Given the description of an element on the screen output the (x, y) to click on. 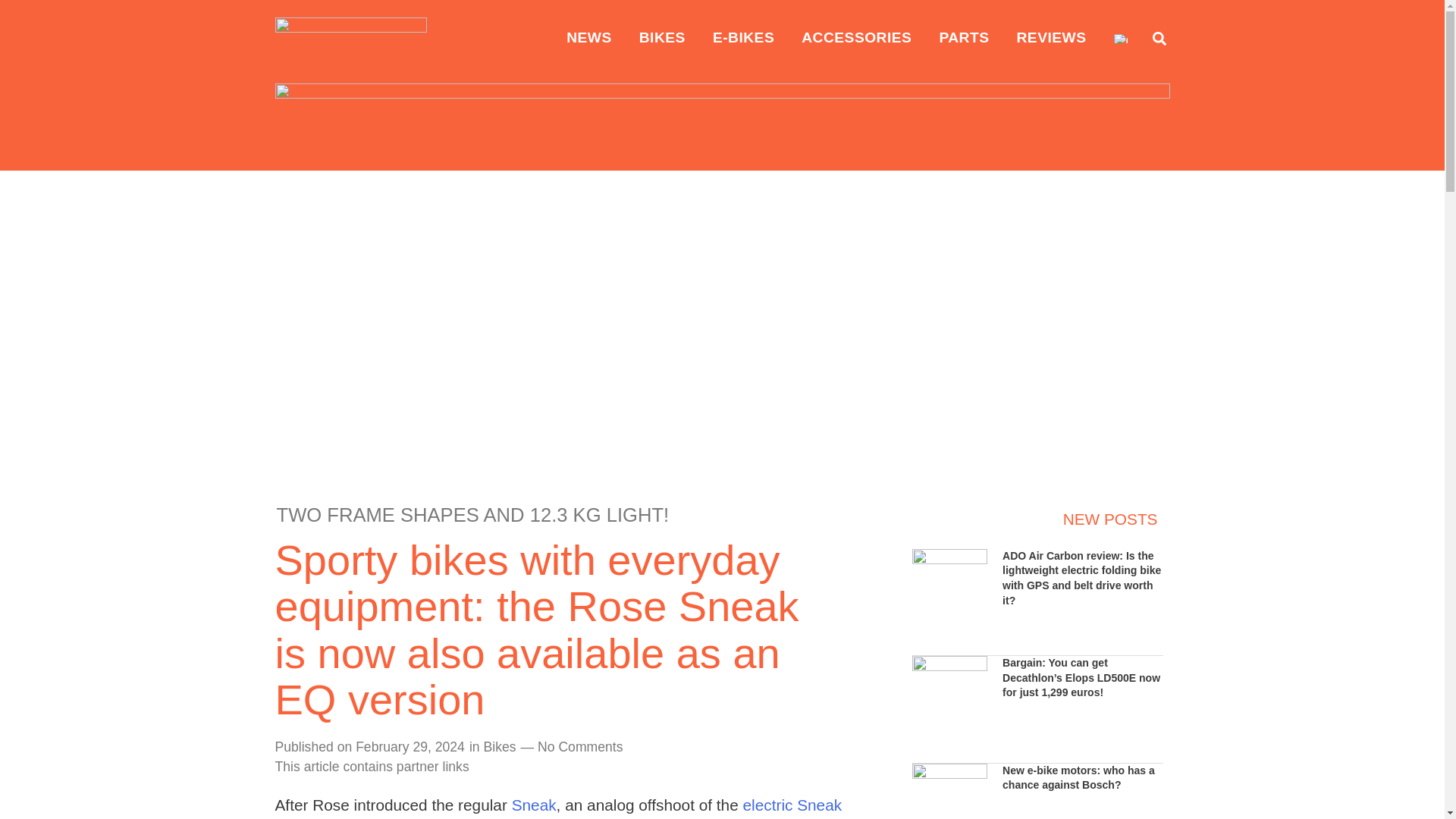
NEWS (589, 38)
Sneak (534, 805)
REVIEWS (1051, 38)
BIKES (662, 38)
electric Sneak Plus (558, 807)
PARTS (963, 38)
Bikes (499, 746)
This article contains partner links (371, 766)
ACCESSORIES (855, 38)
E-BIKES (742, 38)
